Given the description of an element on the screen output the (x, y) to click on. 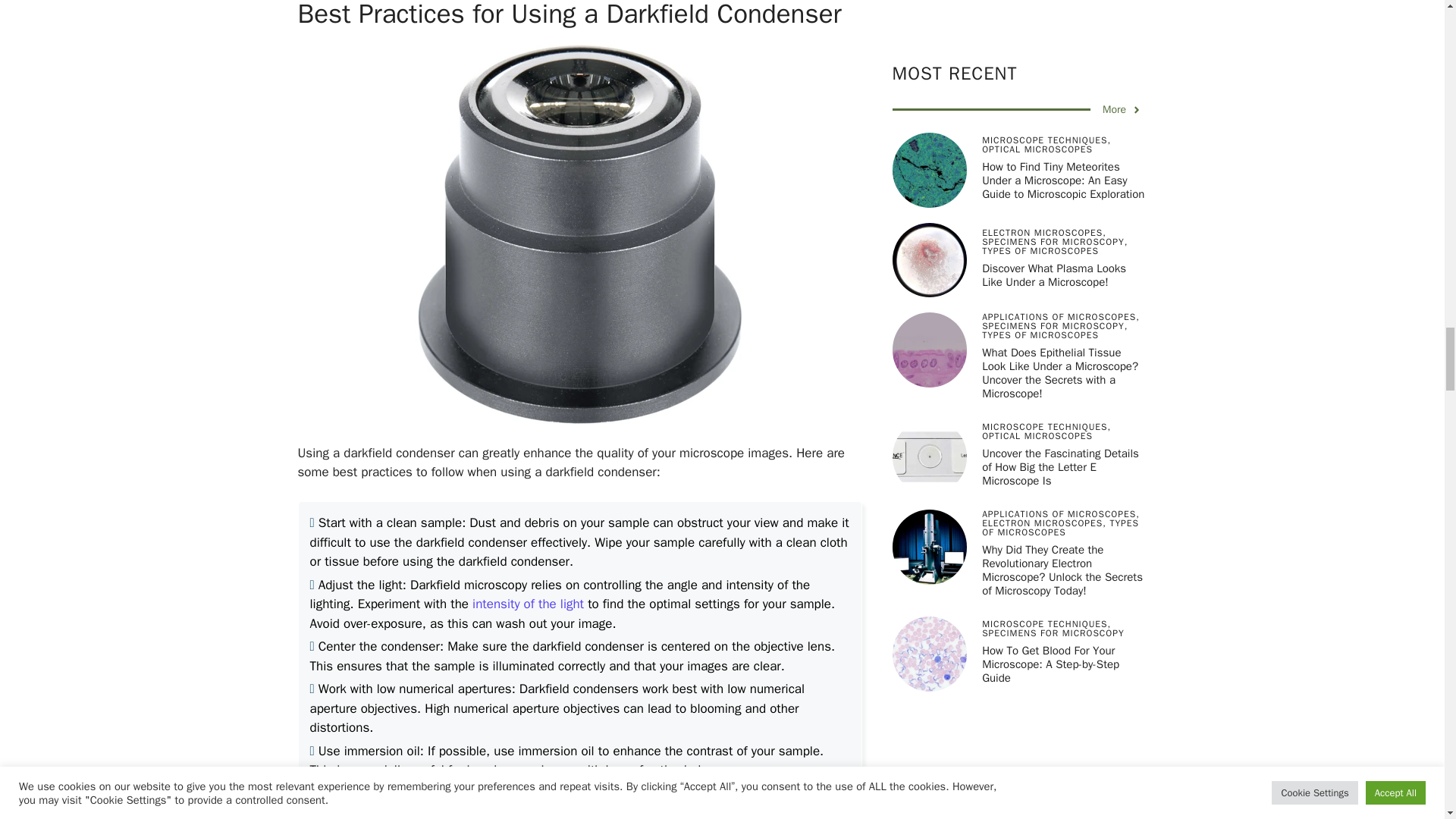
intensity of the light (527, 603)
